Given the description of an element on the screen output the (x, y) to click on. 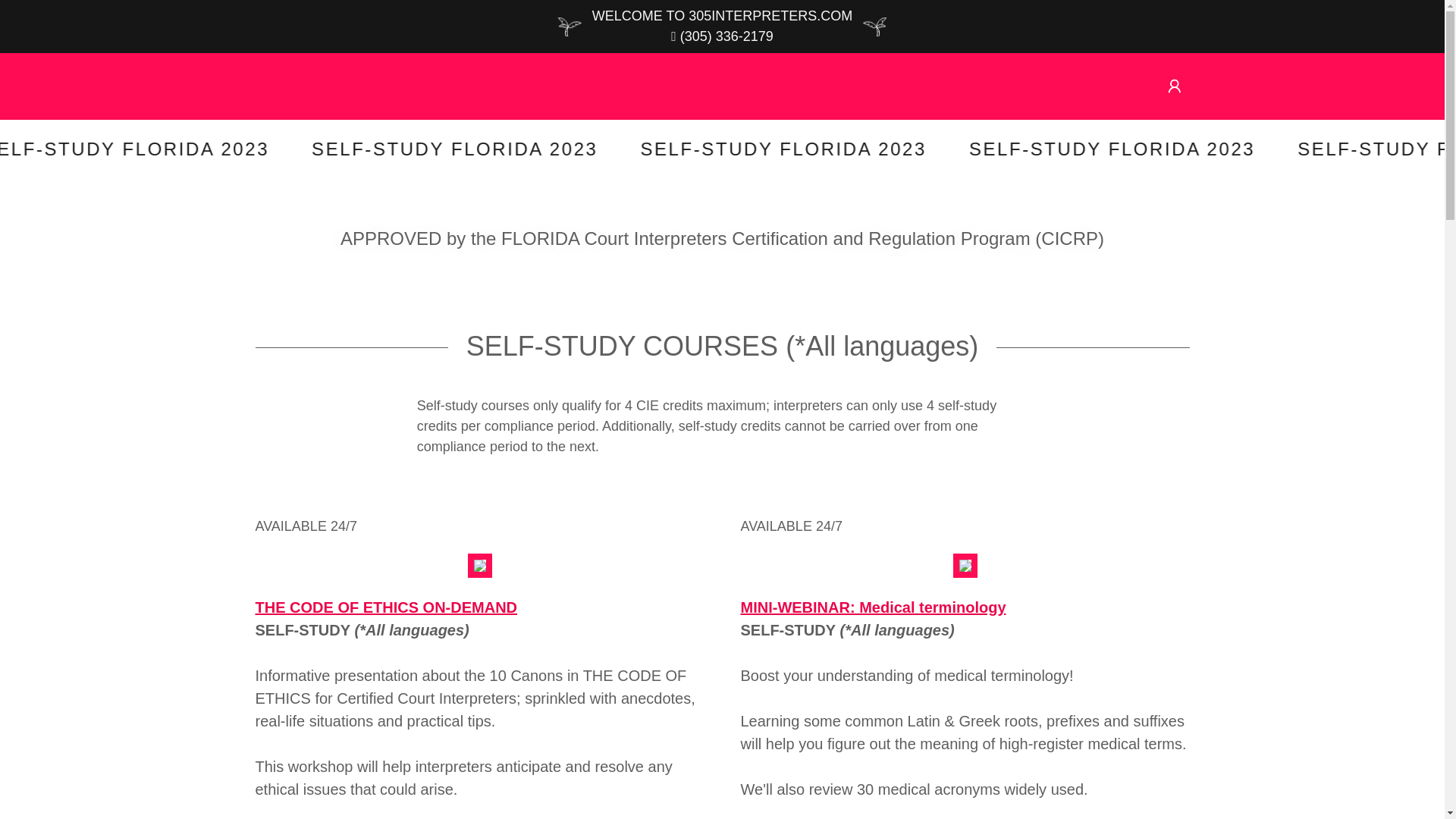
THE CODE OF ETHICS ON-DEMAND Element type: text (385, 607)
MINI-WEBINAR: Medical terminology Element type: text (872, 607)
